Given the description of an element on the screen output the (x, y) to click on. 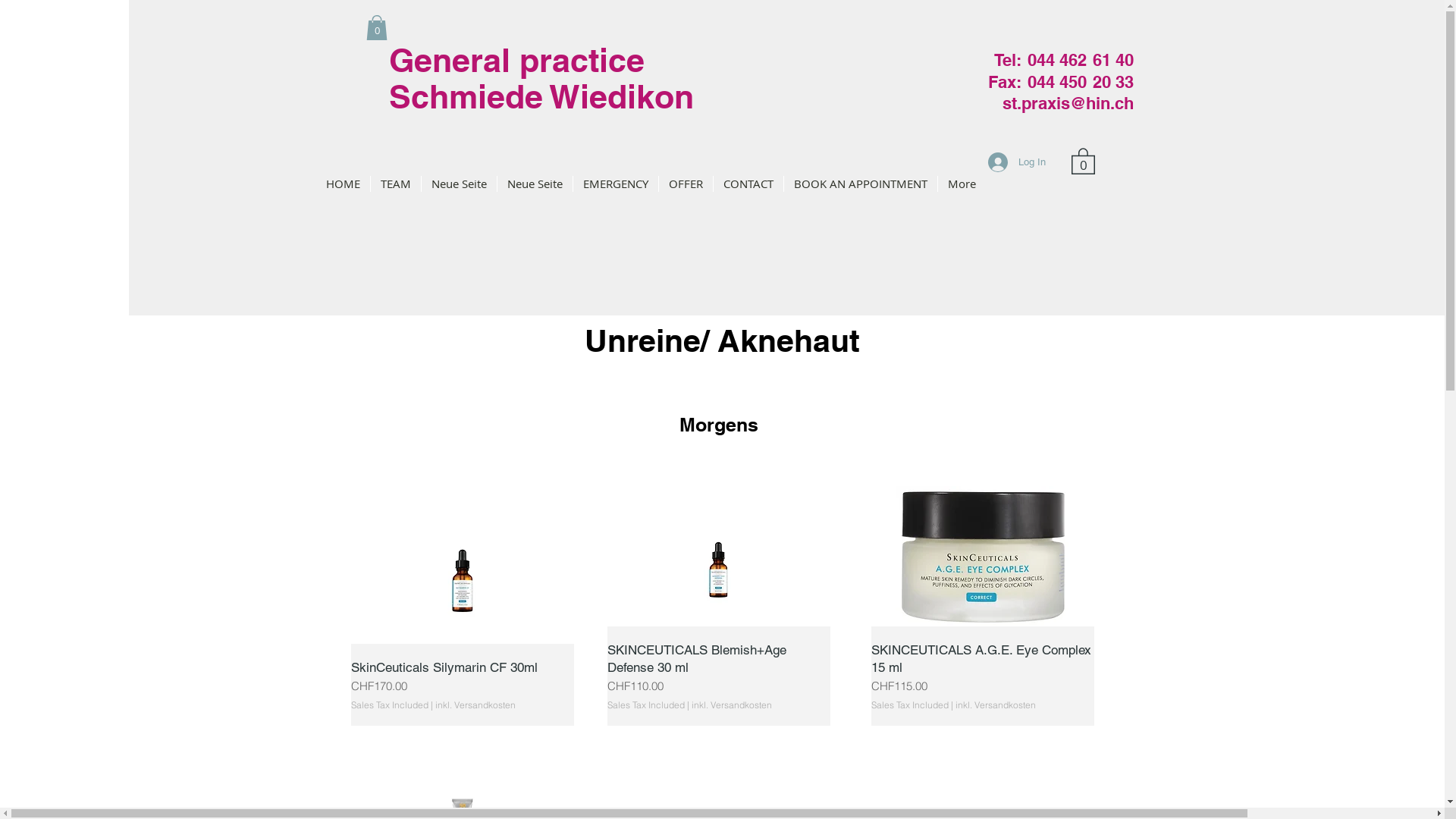
TEAM Element type: text (395, 183)
HOME Element type: text (342, 183)
inkl. Versandkosten Element type: text (475, 704)
OFFER Element type: text (685, 183)
st.praxis@hin.ch Element type: text (1067, 102)
0 Element type: text (375, 27)
General practice Element type: text (515, 59)
Neue Seite Element type: text (458, 183)
BOOK AN APPOINTMENT Element type: text (860, 183)
EMERGENCY Element type: text (615, 183)
Neue Seite Element type: text (534, 183)
inkl. Versandkosten Element type: text (995, 704)
CONTACT Element type: text (747, 183)
inkl. Versandkosten Element type: text (731, 704)
0 Element type: text (1082, 160)
Schmiede Wiedikon Element type: text (540, 96)
Log In Element type: text (1015, 161)
